Given the description of an element on the screen output the (x, y) to click on. 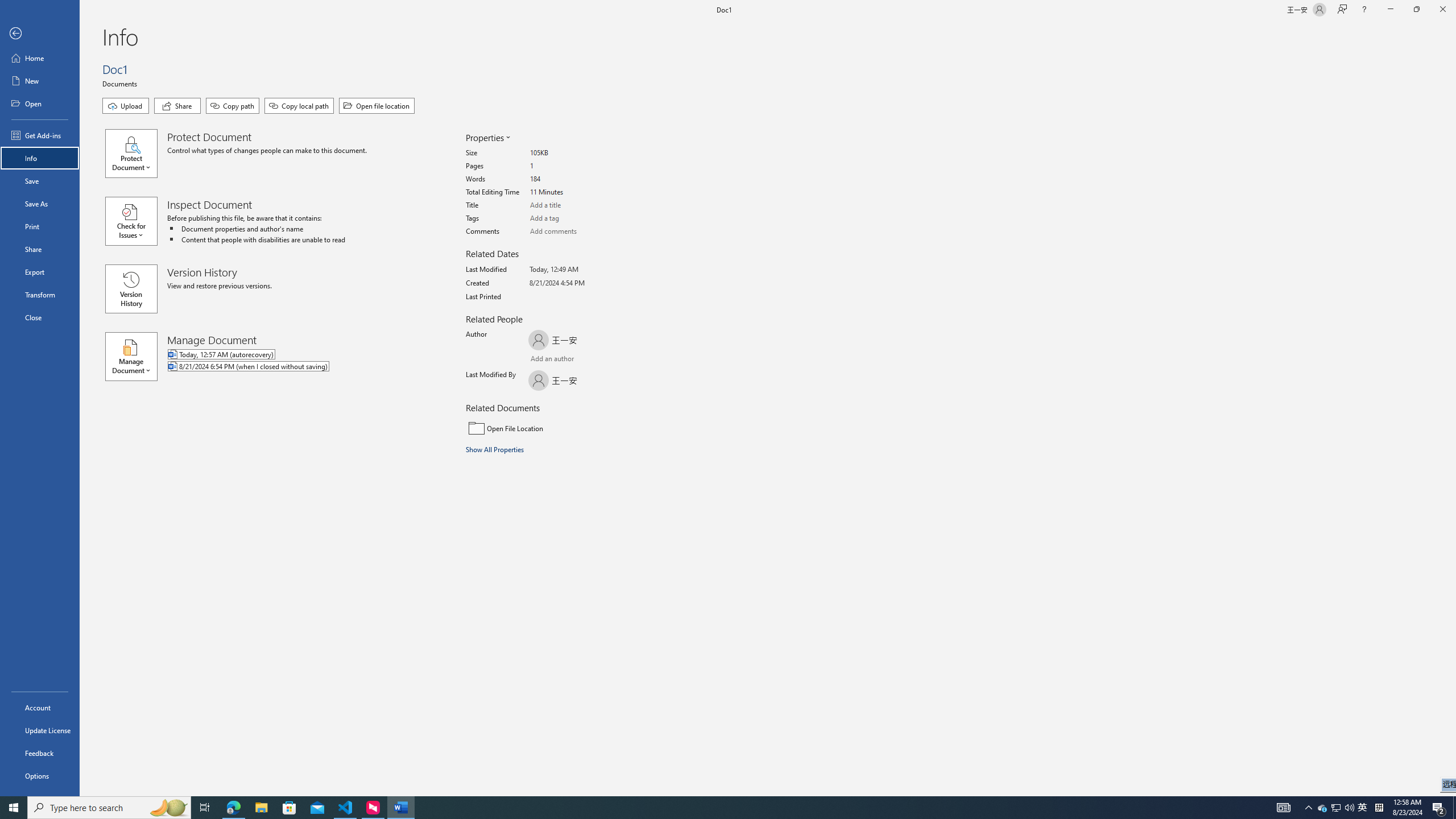
Feedback (40, 753)
Total Editing Time (572, 192)
Protect Document (135, 153)
Copy path (232, 105)
Words (572, 179)
Export (40, 271)
Size (572, 153)
Verify Names (559, 359)
 8/21/2024 6:54 PM (when I closed without saving) (295, 367)
